Given the description of an element on the screen output the (x, y) to click on. 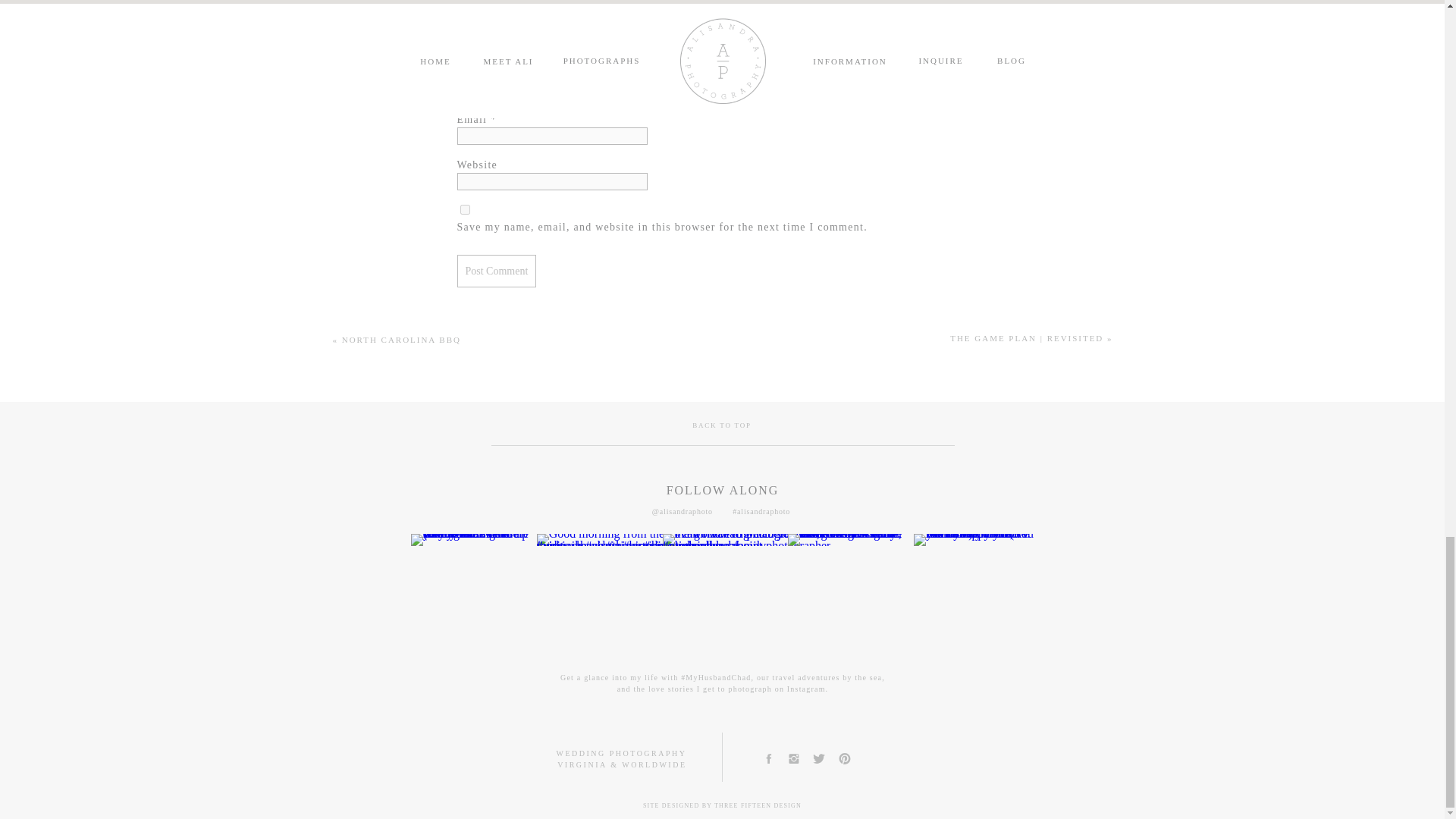
SITE DESIGNED BY THREE FIFTEEN DESIGN (722, 807)
Post Comment (496, 270)
BACK TO TOP (722, 426)
yes (464, 209)
Post Comment (496, 270)
NORTH CAROLINA BBQ (401, 338)
FOLLOW ALONG (722, 490)
